Given the description of an element on the screen output the (x, y) to click on. 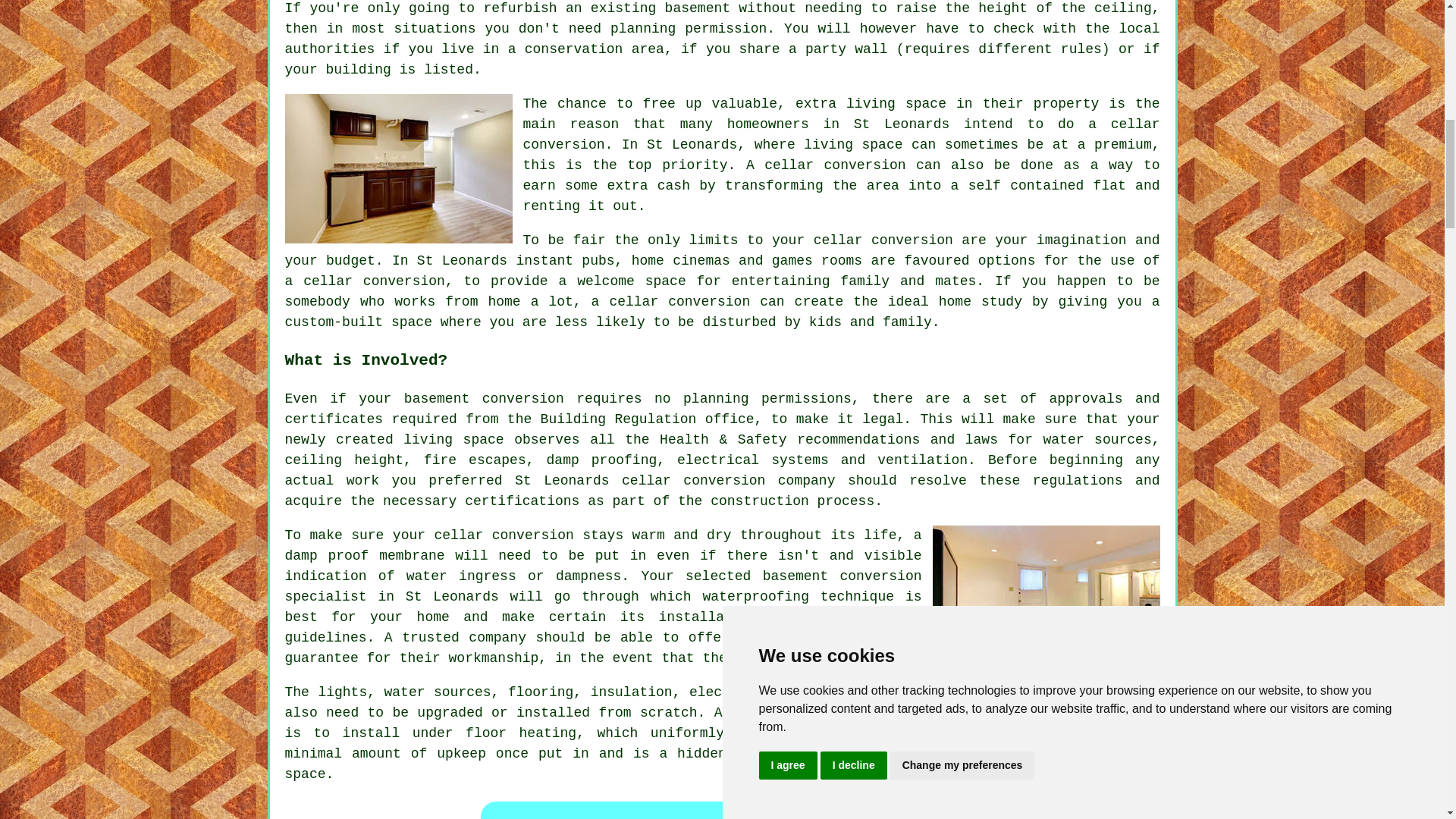
Basement Conversion St Leonards Dorset (1046, 599)
conversion (911, 240)
Cellar Conversion Specialist Quotes in St Leonards Dorset (722, 808)
